Given the description of an element on the screen output the (x, y) to click on. 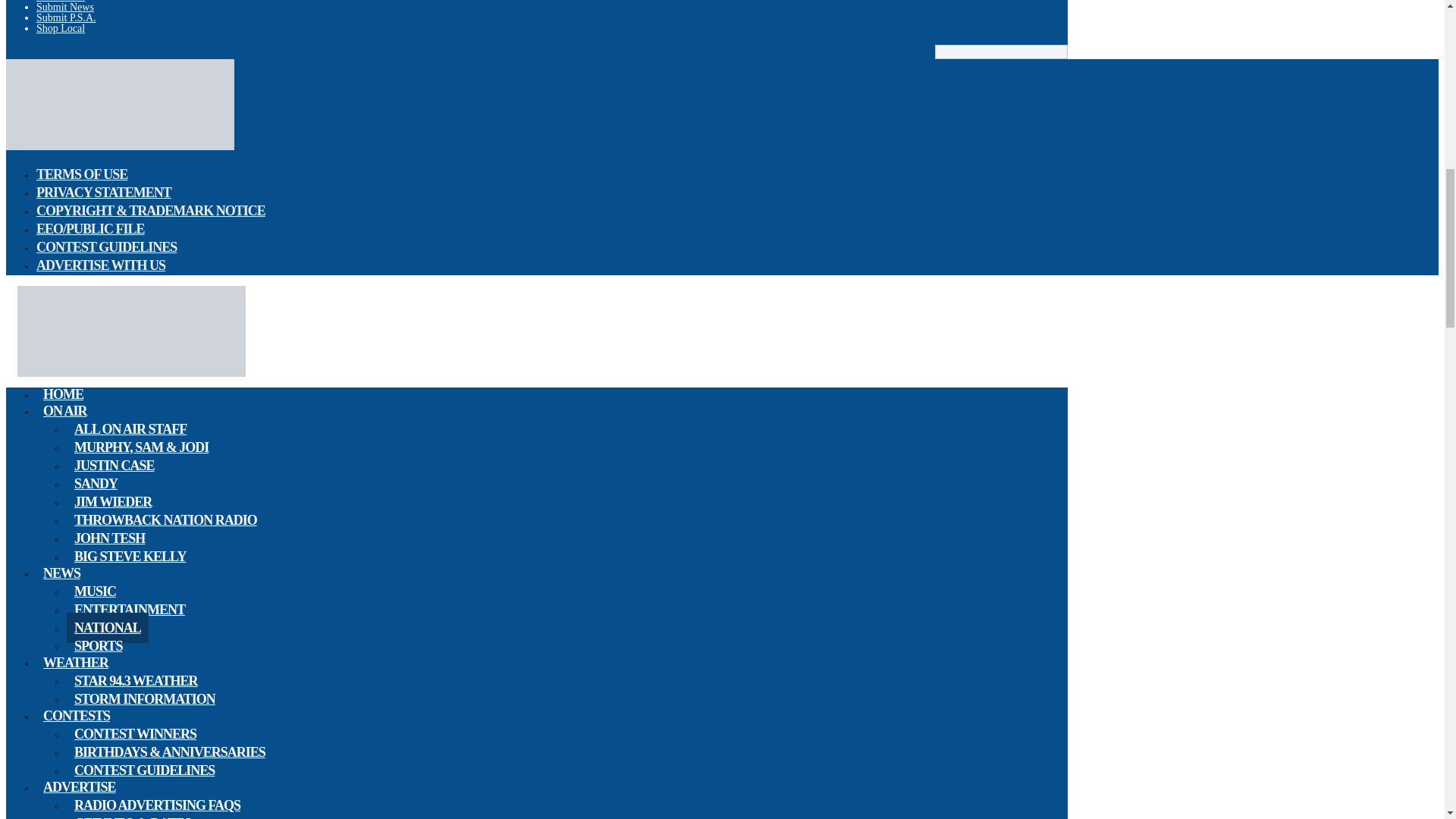
Search for: (1000, 51)
STAR 94.3 (119, 146)
